Given the description of an element on the screen output the (x, y) to click on. 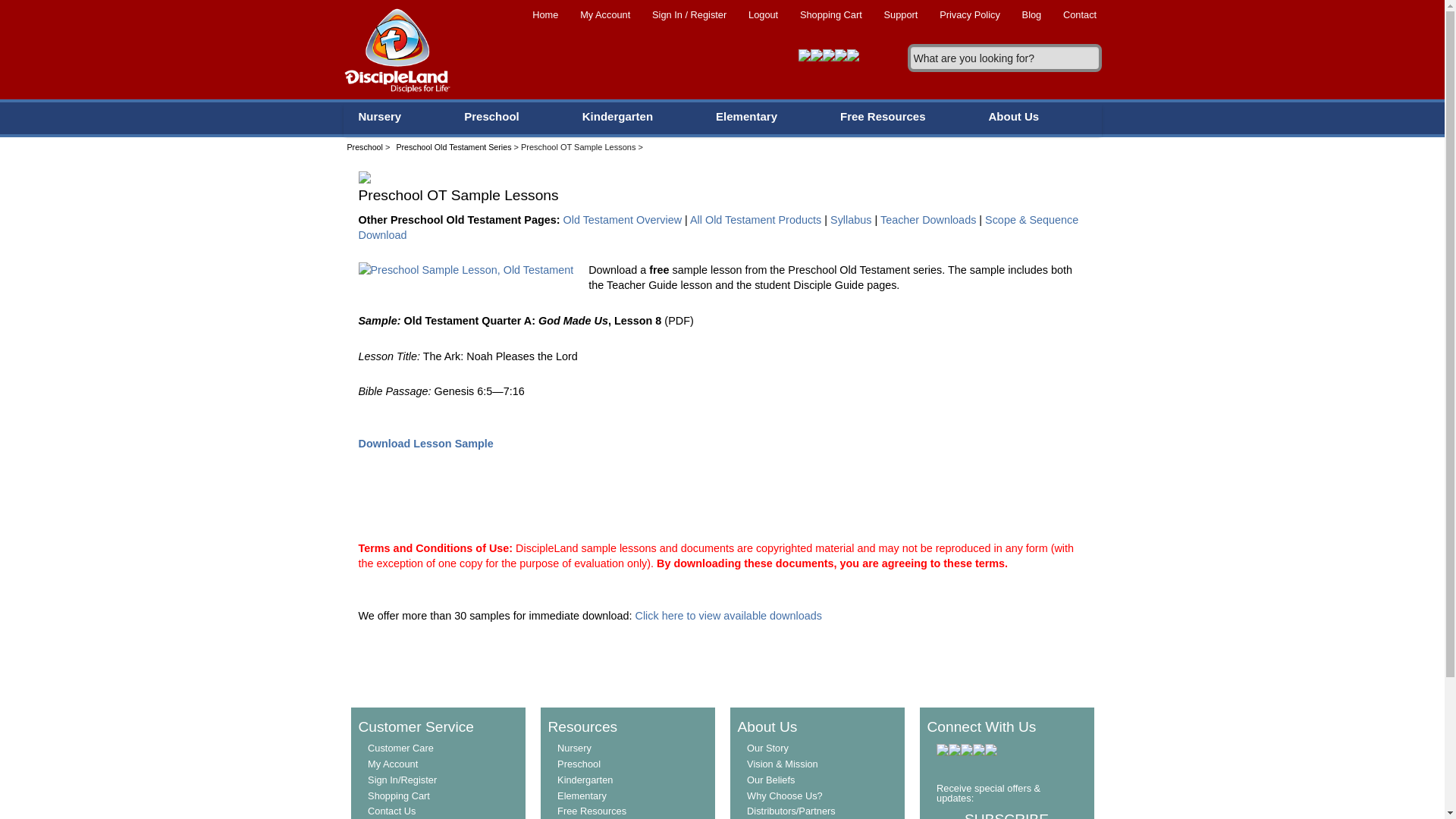
Preschool (492, 117)
Nursery (381, 117)
Contact (1080, 14)
Support (901, 14)
Blog (1030, 14)
Privacy Policy (969, 14)
What are you looking for? (1004, 58)
Logout (763, 14)
Kindergarten (618, 117)
Home (545, 14)
Shopping Cart (830, 14)
My Account (604, 14)
What are you looking for? (1004, 58)
